Given the description of an element on the screen output the (x, y) to click on. 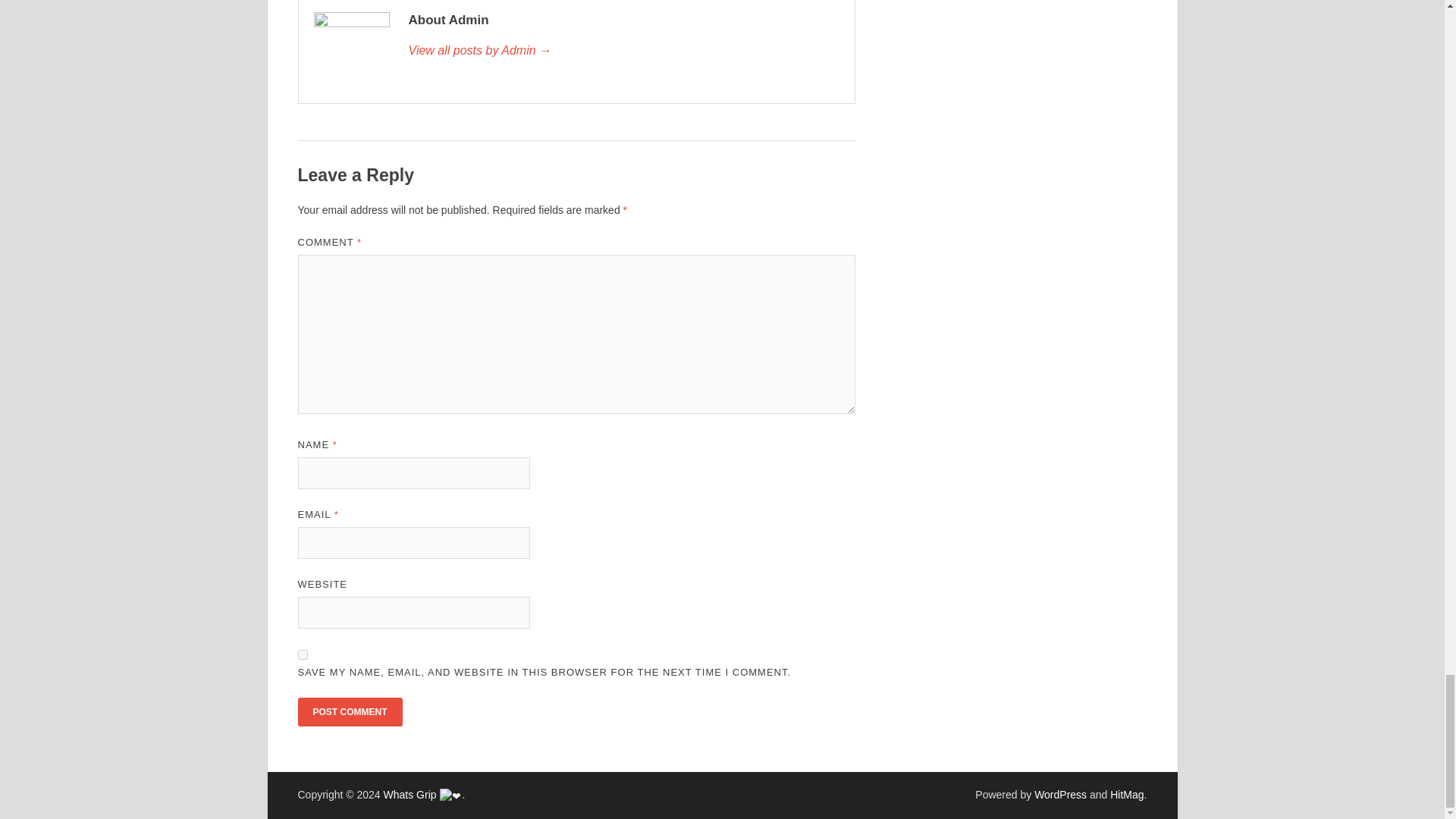
Admin (622, 50)
Post Comment (349, 711)
yes (302, 655)
Post Comment (349, 711)
WordPress (1059, 794)
HitMag WordPress Theme (1125, 794)
